Given the description of an element on the screen output the (x, y) to click on. 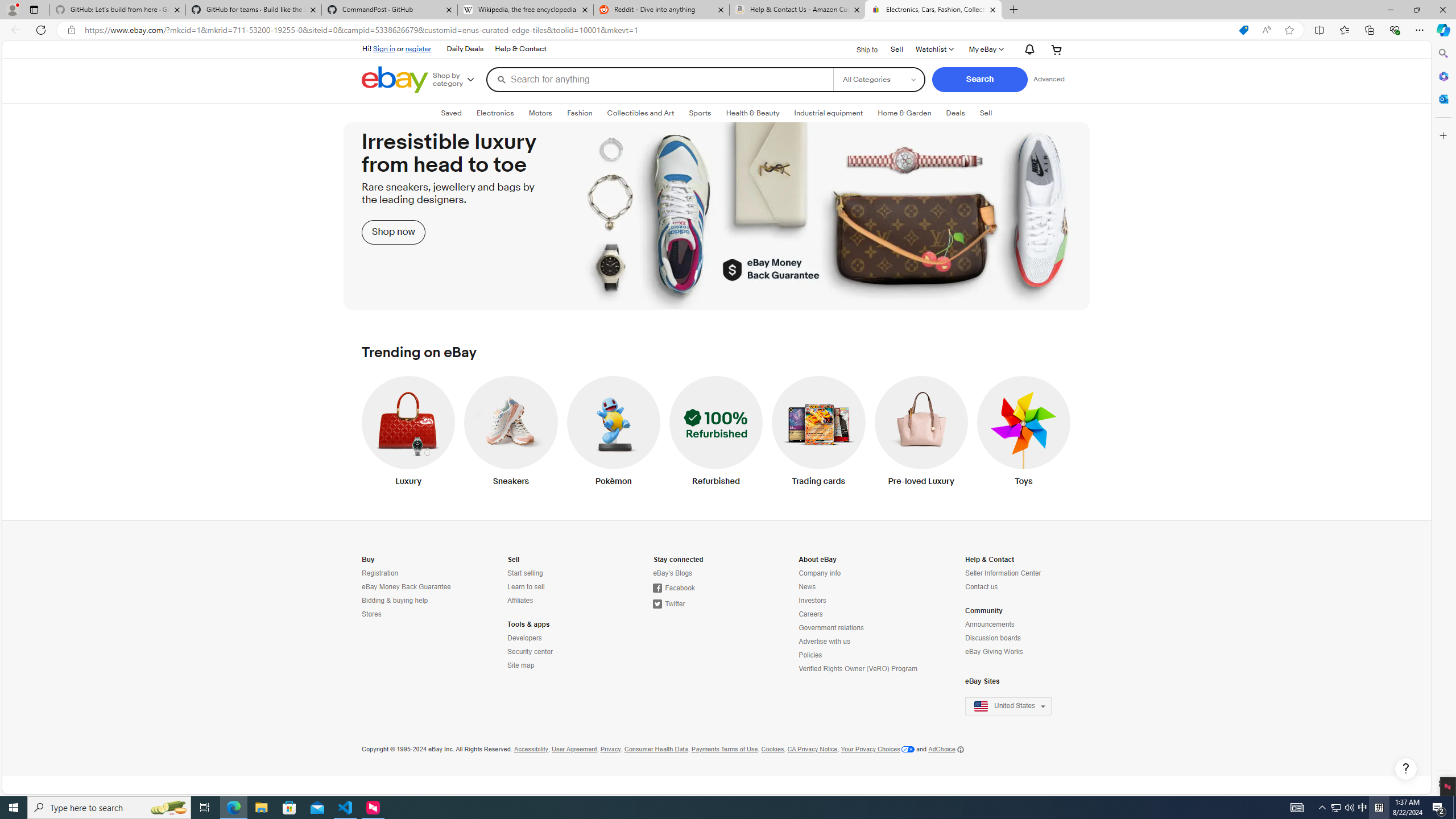
Deals (955, 112)
Learn to sell (557, 587)
Sneakers (510, 433)
eBay sites,United States (1008, 705)
Daily Deals (464, 49)
Twitter (703, 604)
Ship to (860, 49)
Select a category for search (878, 78)
Company info (819, 573)
Advertise with us (858, 641)
eBay Giving Works (1015, 652)
